Given the description of an element on the screen output the (x, y) to click on. 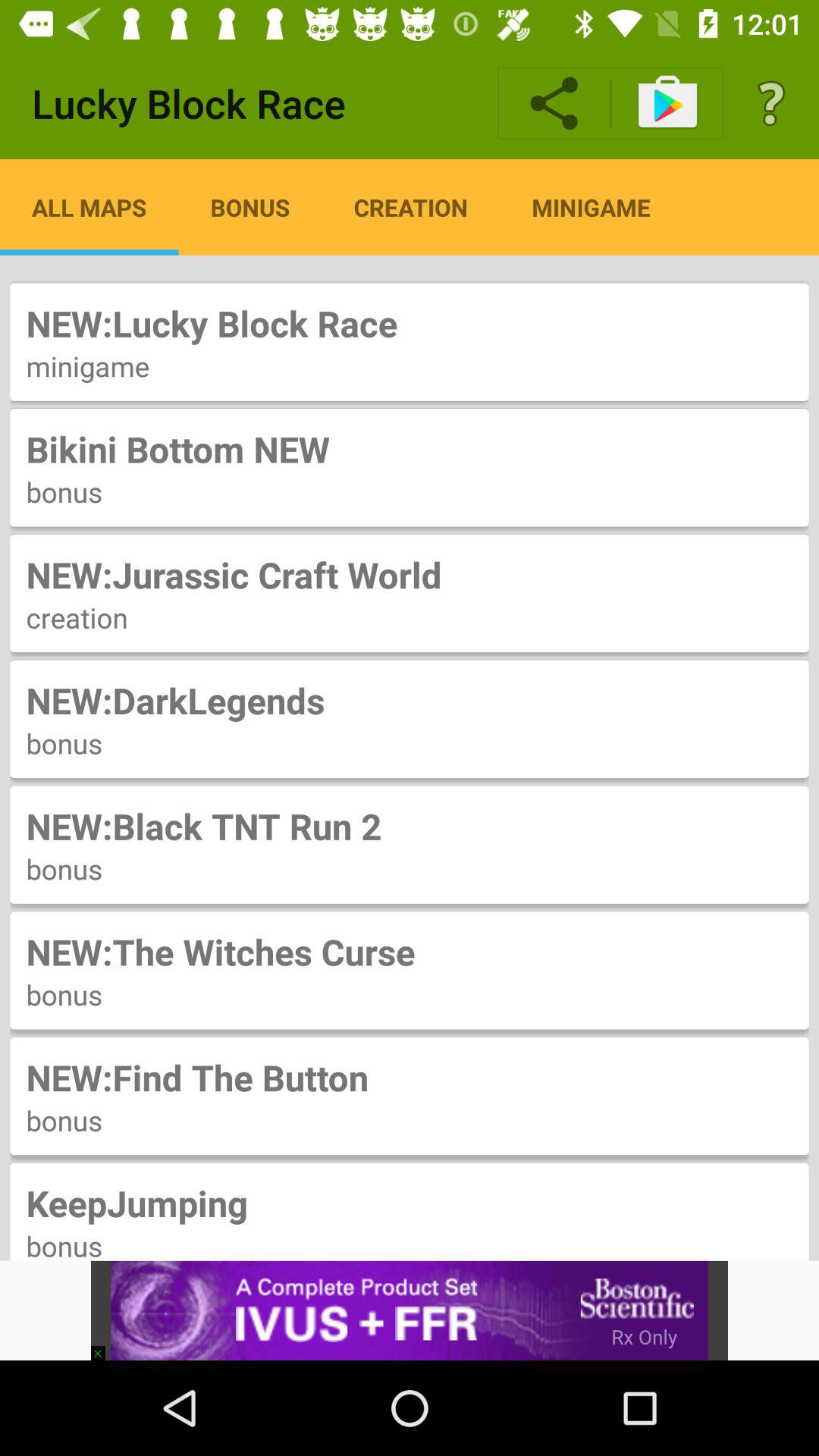
turn on icon above bonus (409, 1203)
